Given the description of an element on the screen output the (x, y) to click on. 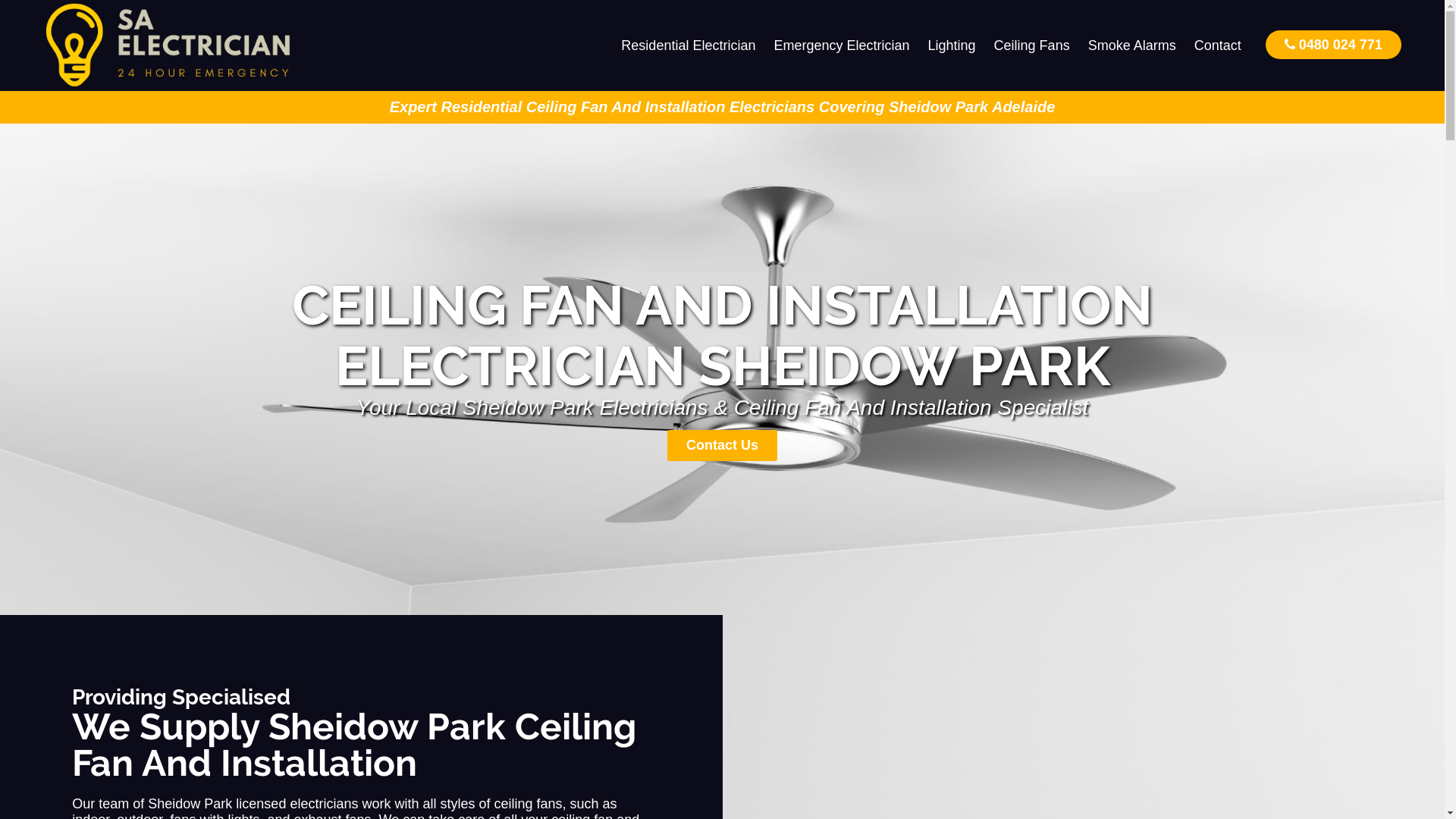
Lighting Element type: text (952, 45)
0480 024 771 Element type: text (1333, 44)
Emergency Electrician Element type: text (841, 45)
Contact Us Element type: text (722, 445)
Ceiling Fans Element type: text (1032, 45)
Contact Element type: text (1217, 45)
Smoke Alarms Element type: text (1132, 45)
Residential Electrician Element type: text (687, 45)
